Given the description of an element on the screen output the (x, y) to click on. 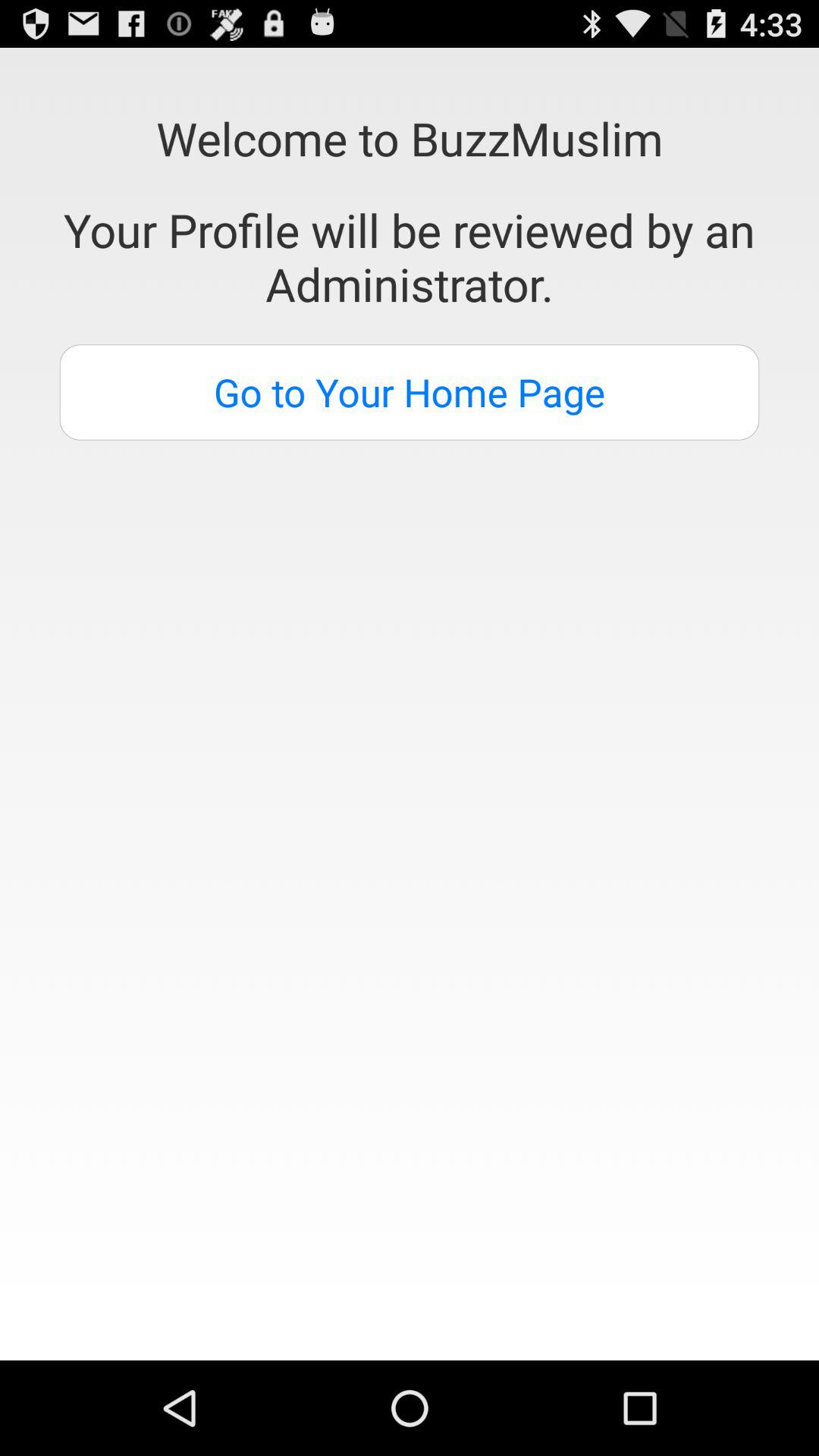
turn off app below the your profile will icon (409, 392)
